Given the description of an element on the screen output the (x, y) to click on. 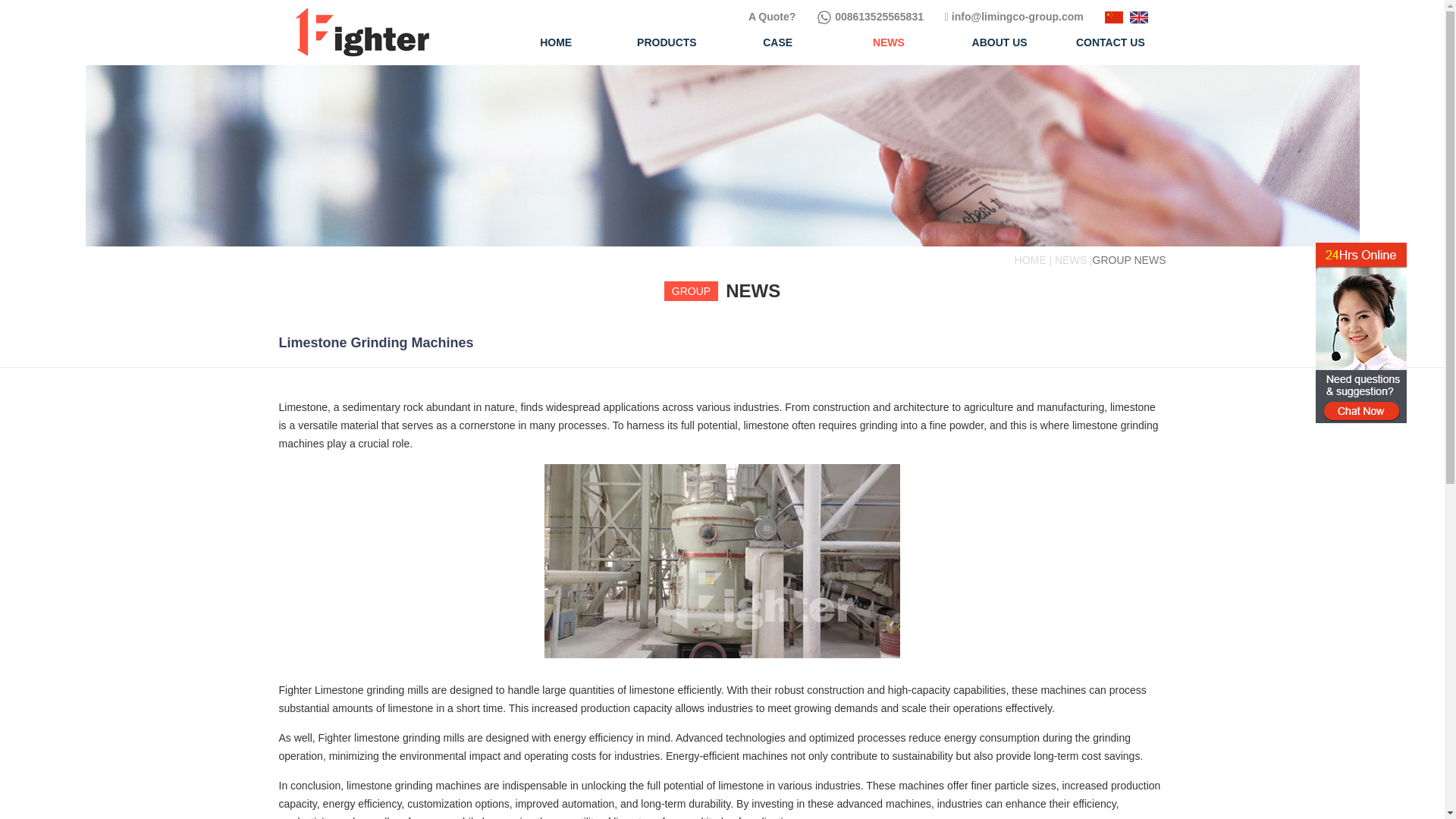
HOME (555, 39)
A Quote? (772, 16)
CONTACT US (1110, 39)
008613525565831 (869, 16)
PRODUCTS (666, 39)
NEWS (887, 39)
Chinese (1113, 17)
English (1138, 17)
ABOUT US (998, 39)
CASE (777, 39)
